Given the description of an element on the screen output the (x, y) to click on. 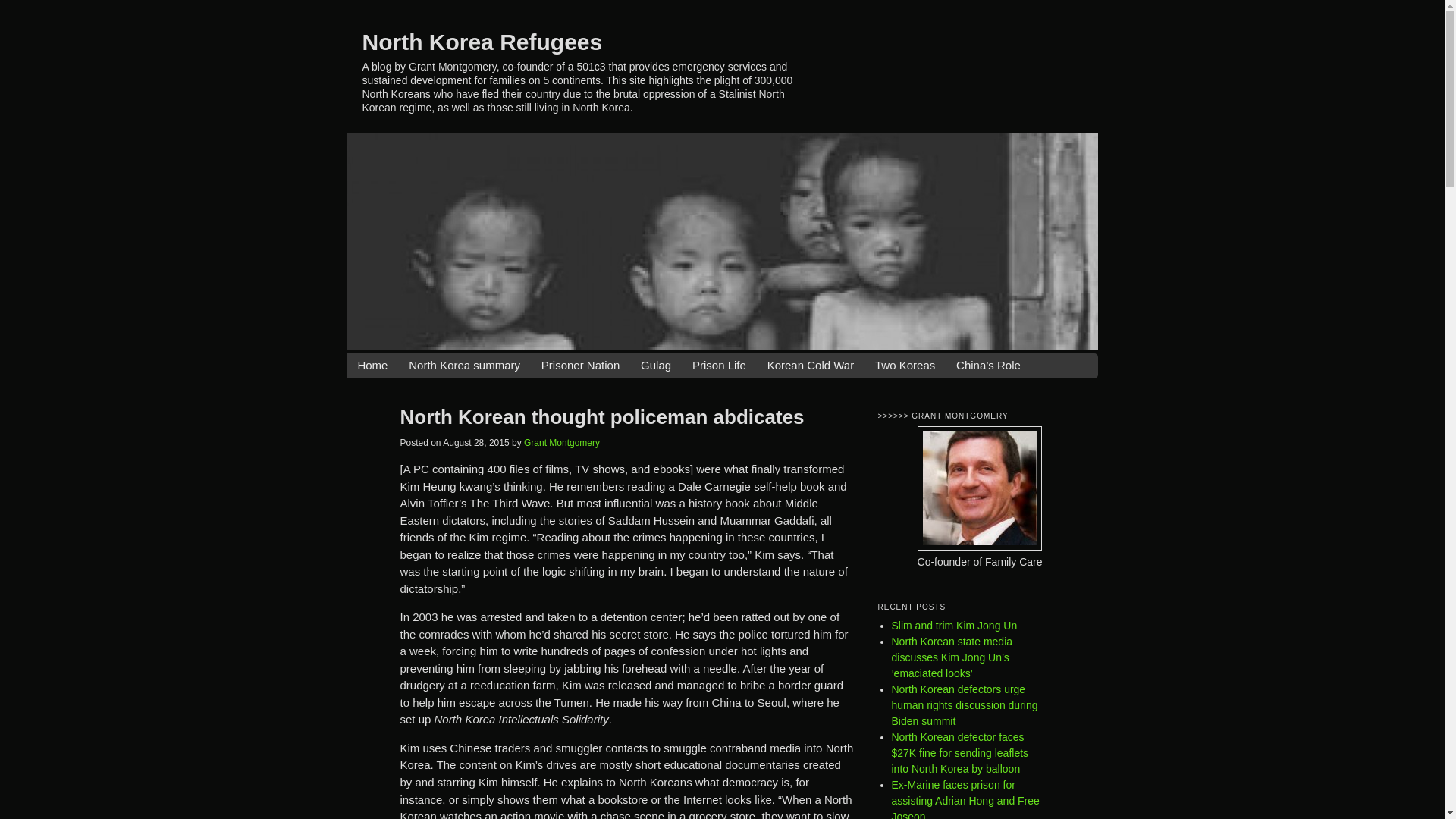
Posts by Grant Montgomery (561, 442)
North Korea Refugees (482, 41)
Prisoner Nation (580, 365)
Gulag (655, 365)
Korean Cold War (810, 365)
North Korean thought policeman abdicates (602, 416)
North Korean thought policeman abdicates (602, 416)
Grant Montgomery (561, 442)
